Given the description of an element on the screen output the (x, y) to click on. 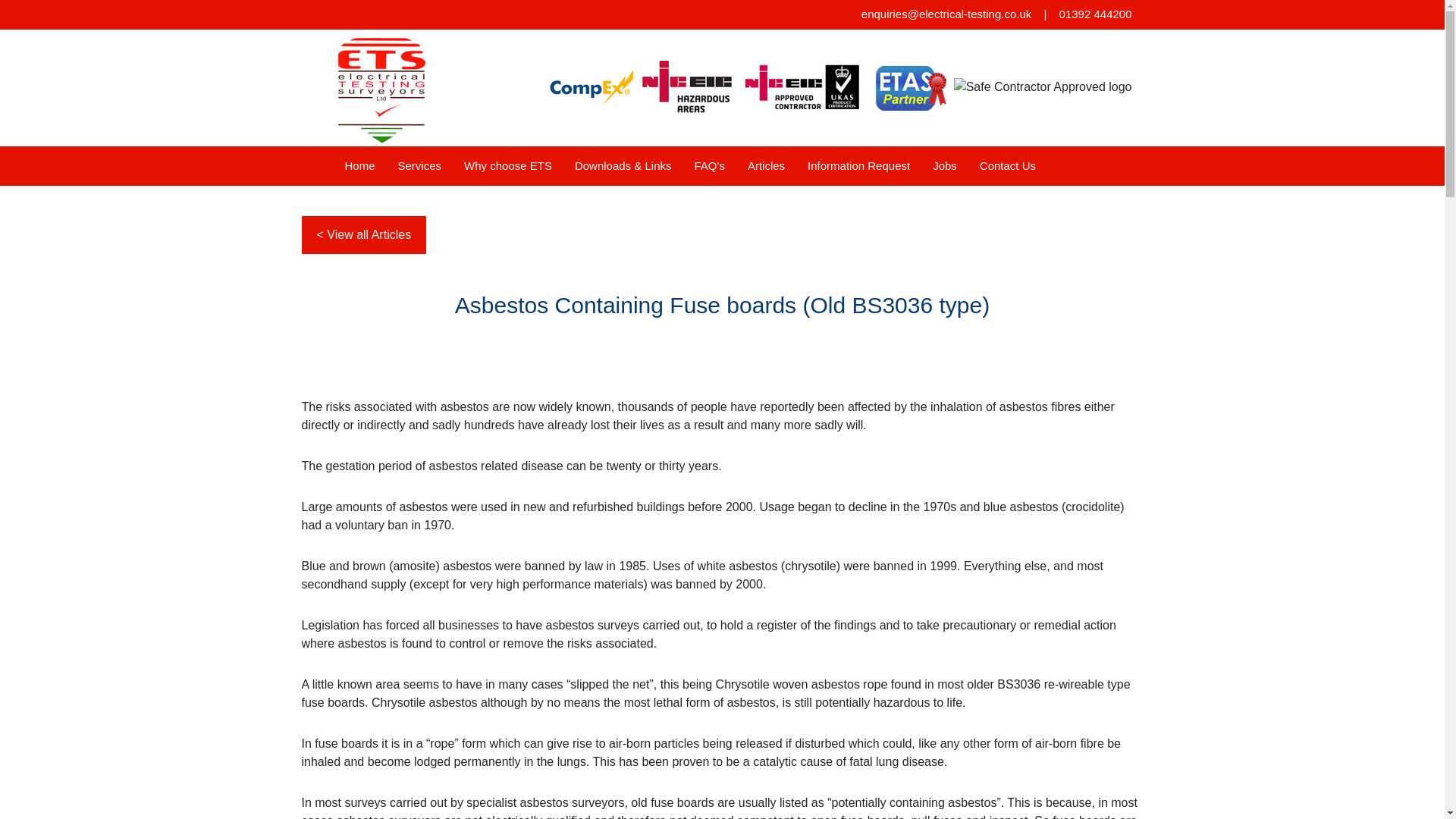
Contact Us (1007, 165)
FAQ's (709, 165)
Information Request (858, 165)
Why choose ETS (507, 165)
Articles (766, 165)
Home (360, 165)
Services (419, 165)
01392 444200 (1095, 13)
Jobs (944, 165)
